Given the description of an element on the screen output the (x, y) to click on. 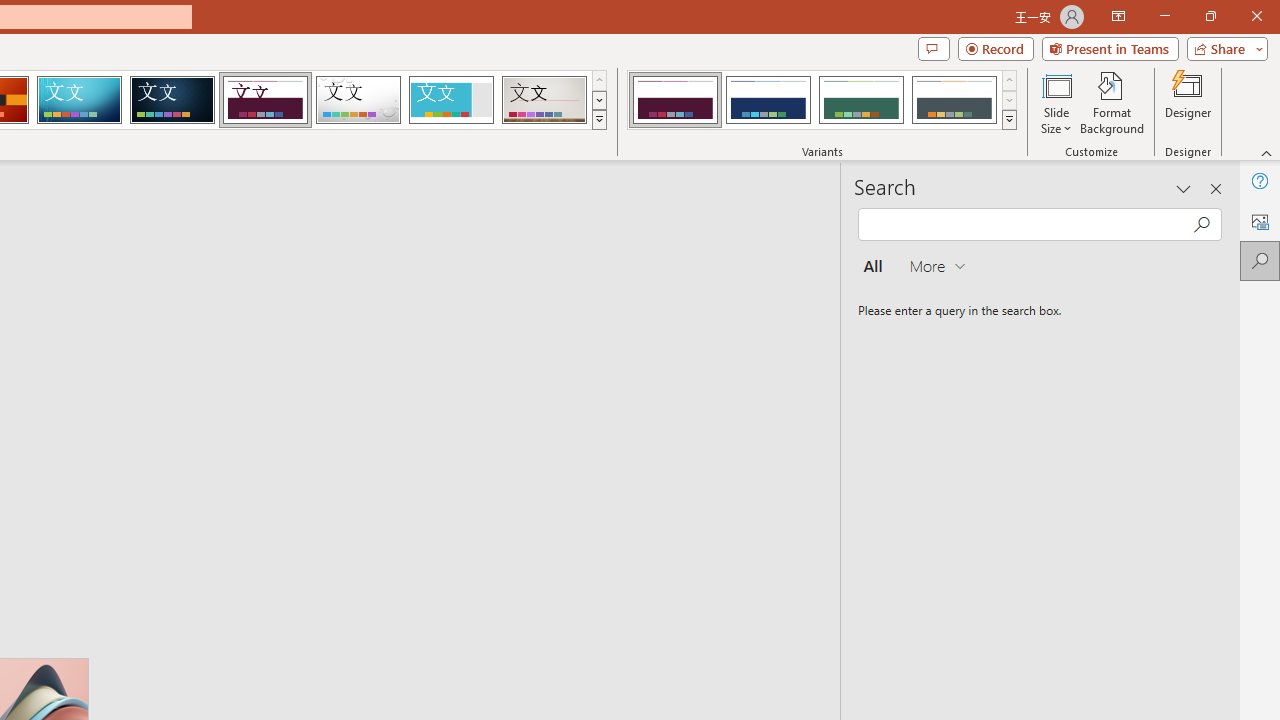
AutomationID: ThemeVariantsGallery (822, 99)
Dividend Variant 1 (674, 100)
Circuit (79, 100)
Dividend Variant 4 (953, 100)
Droplet (358, 100)
Damask (171, 100)
